Given the description of an element on the screen output the (x, y) to click on. 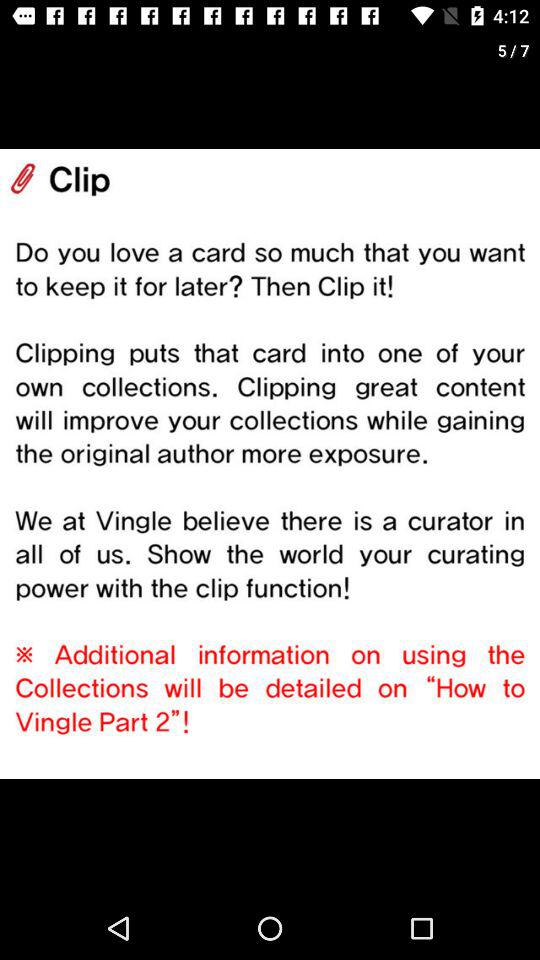
tap the icon at the center (270, 463)
